Given the description of an element on the screen output the (x, y) to click on. 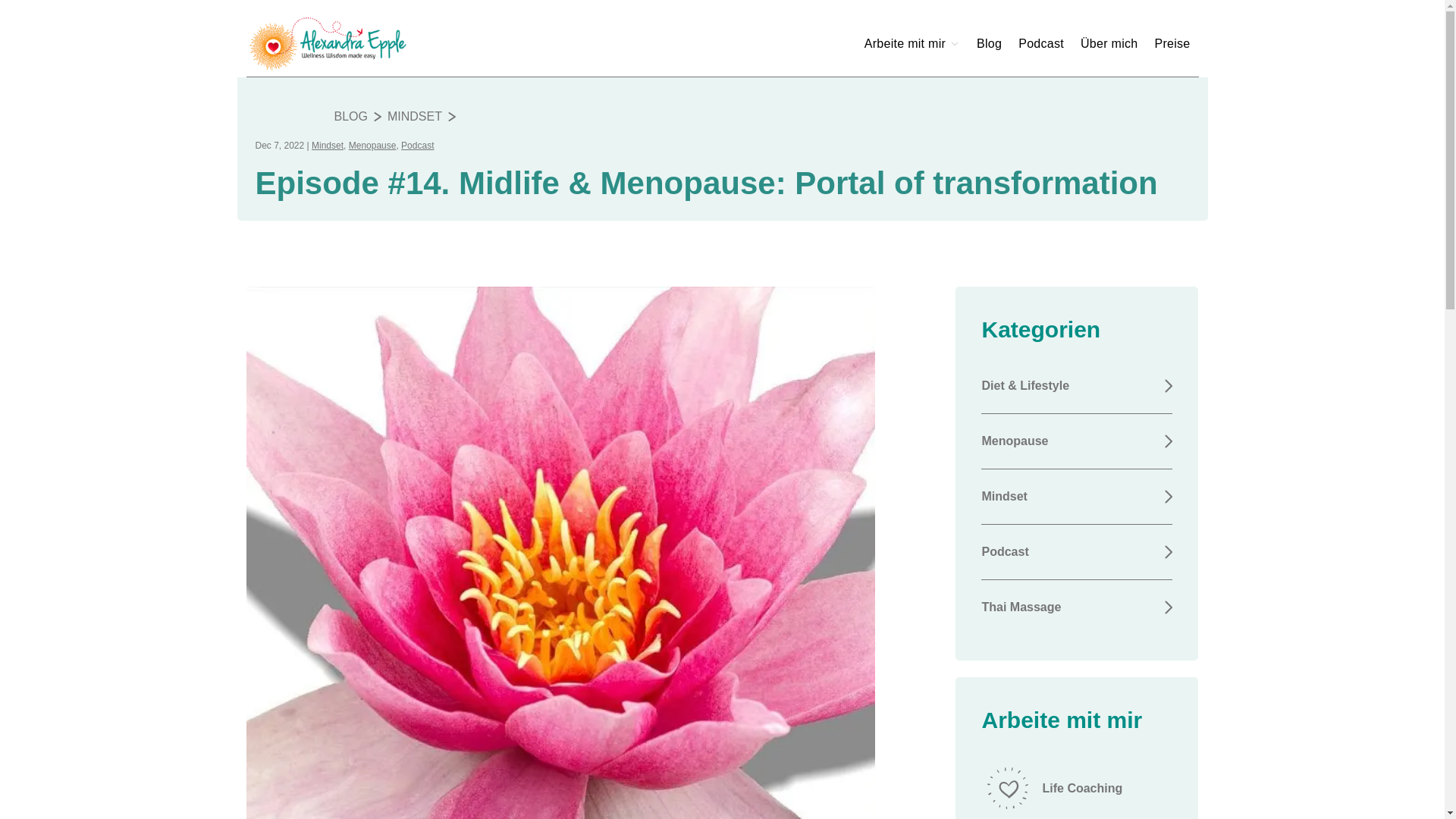
Menopause (372, 145)
Thai Massage (1076, 606)
Preise (1171, 43)
Mindset (1076, 496)
Mindset (327, 145)
Podcast (417, 145)
Podcast (1040, 43)
Life Coaching (1076, 784)
Blog (989, 43)
MINDSET (414, 116)
Menopause (1076, 441)
Podcast (1076, 551)
BLOG (349, 116)
Arbeite mit mir (912, 43)
Ayurveda Coaching, Yoga Health Coaching, Thai Massage (359, 43)
